Given the description of an element on the screen output the (x, y) to click on. 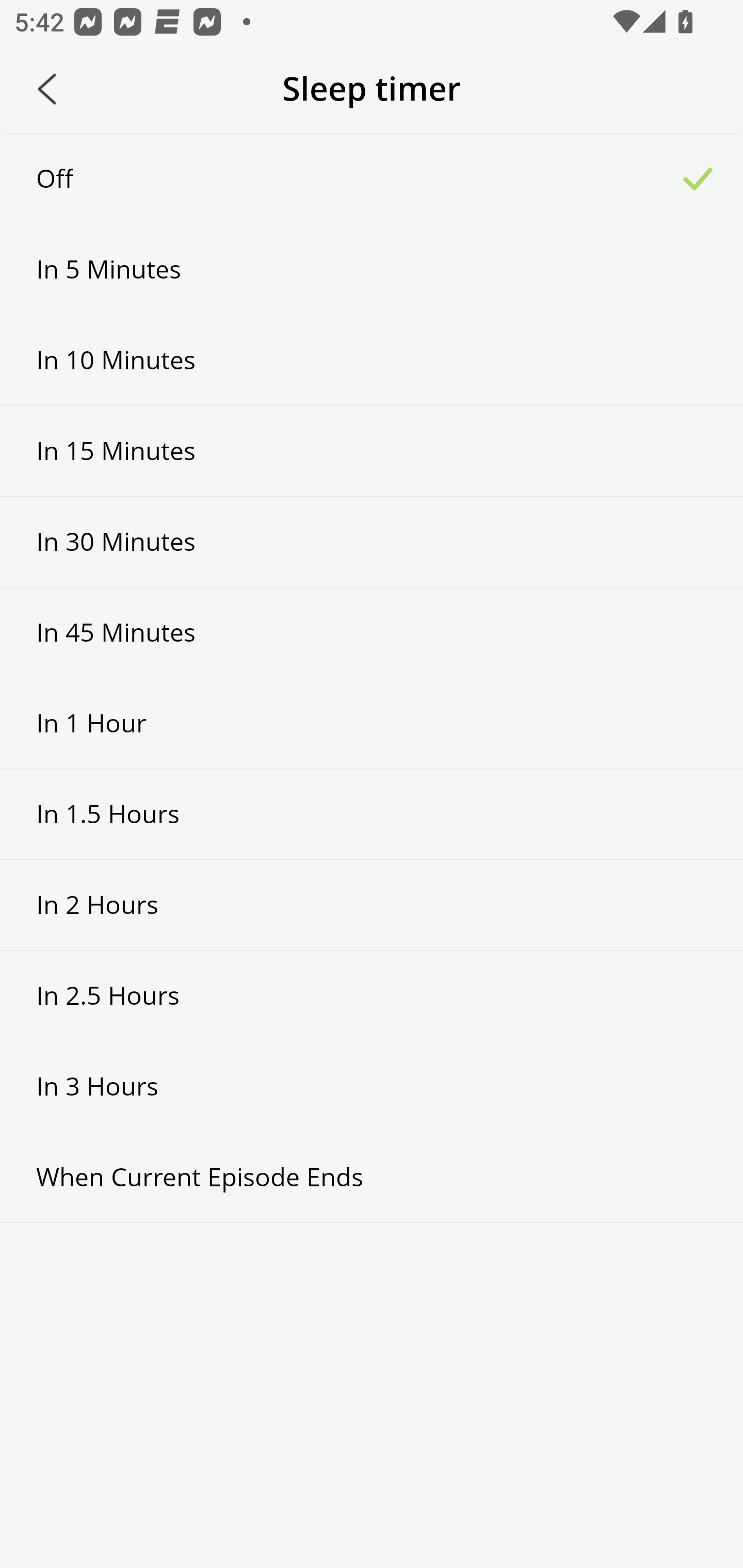
Back (46, 88)
Off (371, 178)
In 5 Minutes (371, 269)
In 10 Minutes (371, 360)
In 15 Minutes (371, 450)
In 30 Minutes (371, 541)
In 45 Minutes (371, 632)
In 1 Hour (371, 723)
In 1.5 Hours (371, 813)
In 2 Hours (371, 904)
In 2.5 Hours (371, 995)
In 3 Hours (371, 1086)
When Current Episode Ends (371, 1177)
